Given the description of an element on the screen output the (x, y) to click on. 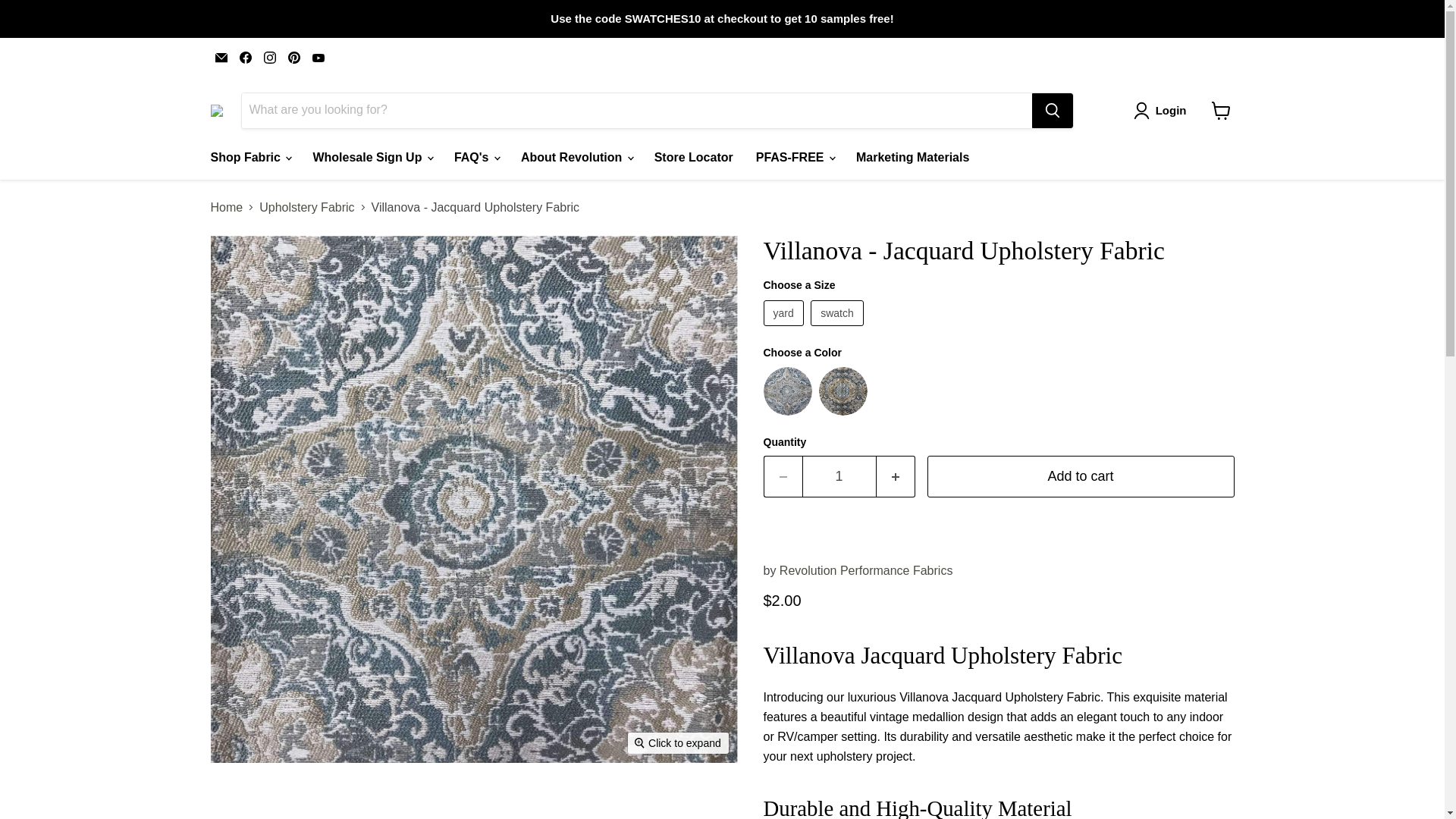
Login (1163, 110)
YouTube (318, 56)
Instagram (270, 56)
View cart (1221, 110)
Email (221, 56)
Find us on Instagram (270, 56)
Find us on YouTube (318, 56)
Find us on Facebook (245, 56)
1 (839, 476)
Revolution Performance Fabrics (865, 570)
Find us on Pinterest (293, 56)
Facebook (245, 56)
Pinterest (293, 56)
Email Revolution Fabrics (221, 56)
